Given the description of an element on the screen output the (x, y) to click on. 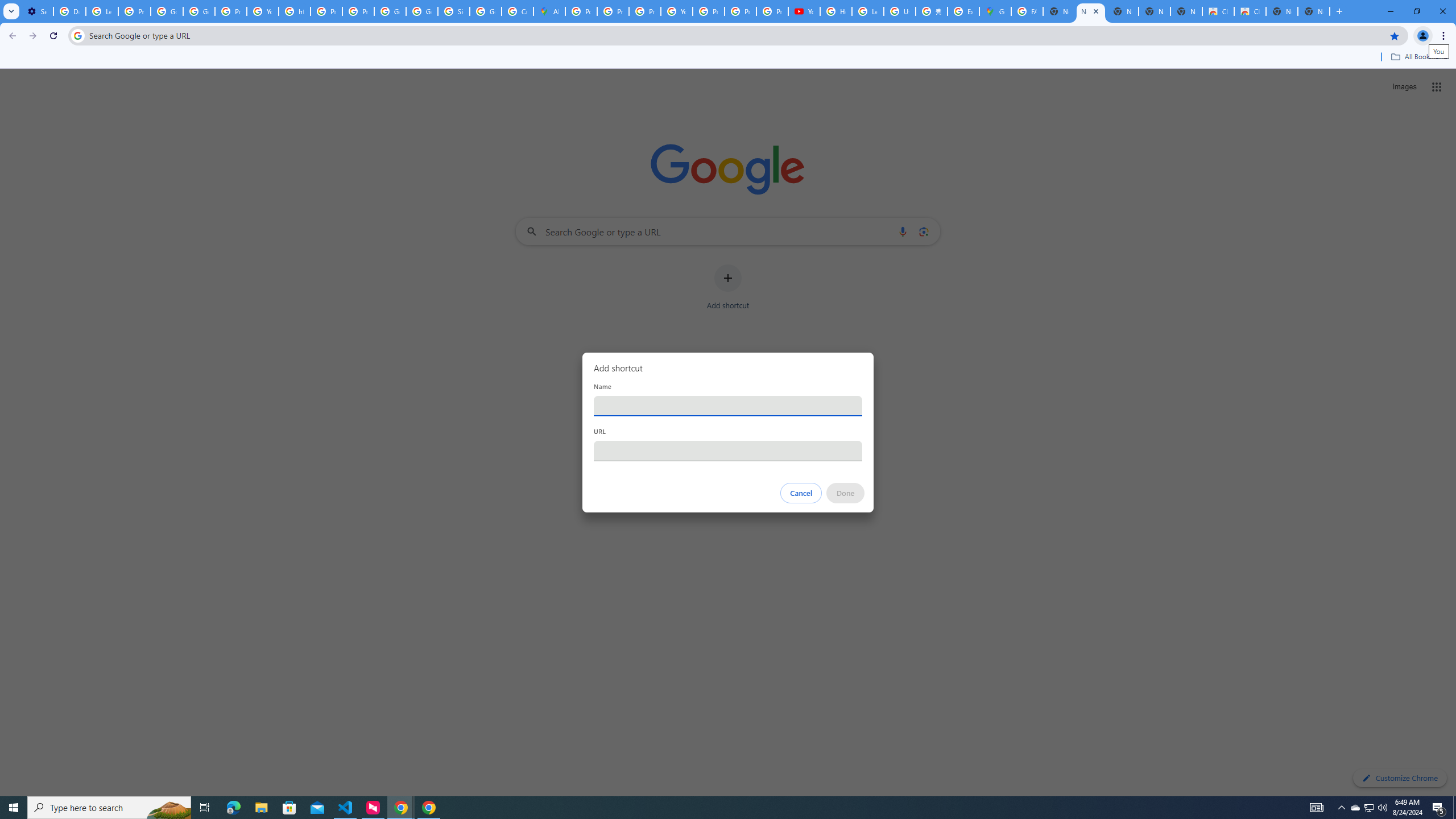
YouTube (262, 11)
Settings - On startup (37, 11)
How Chrome protects your passwords - Google Chrome Help (836, 11)
Google Account Help (198, 11)
Cancel (801, 493)
All Bookmarks (1418, 56)
Classic Blue - Chrome Web Store (1249, 11)
Google Maps (995, 11)
YouTube (676, 11)
